Given the description of an element on the screen output the (x, y) to click on. 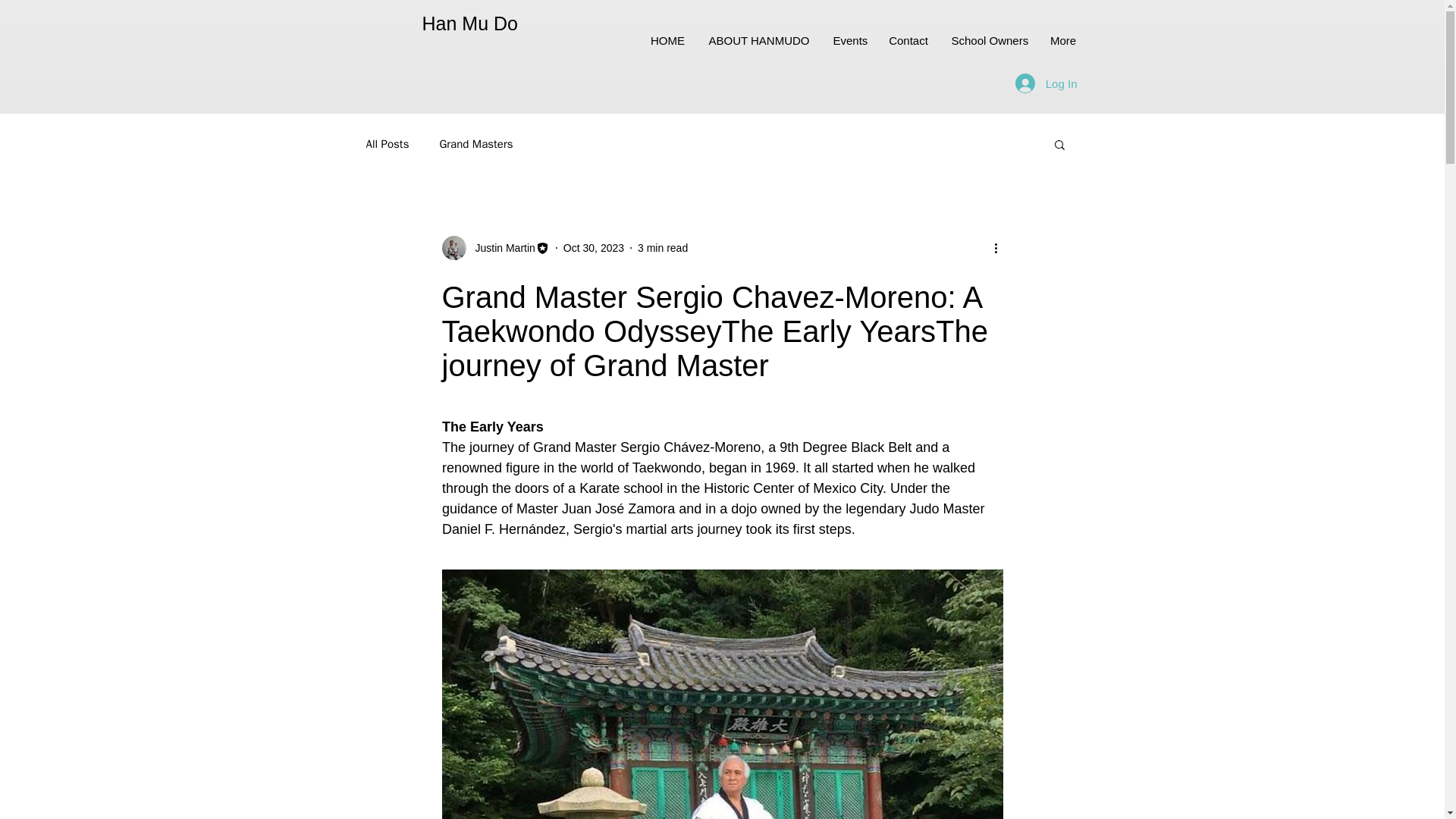
Events (849, 40)
Oct 30, 2023 (593, 246)
ABOUT HANMUDO (758, 40)
Han Mu Do (469, 23)
All Posts (387, 143)
3 min read (662, 246)
Log In (1045, 82)
Grand Masters (475, 143)
School Owners (989, 40)
HOME (667, 40)
Justin Martin (499, 247)
Justin Martin (494, 247)
